Given the description of an element on the screen output the (x, y) to click on. 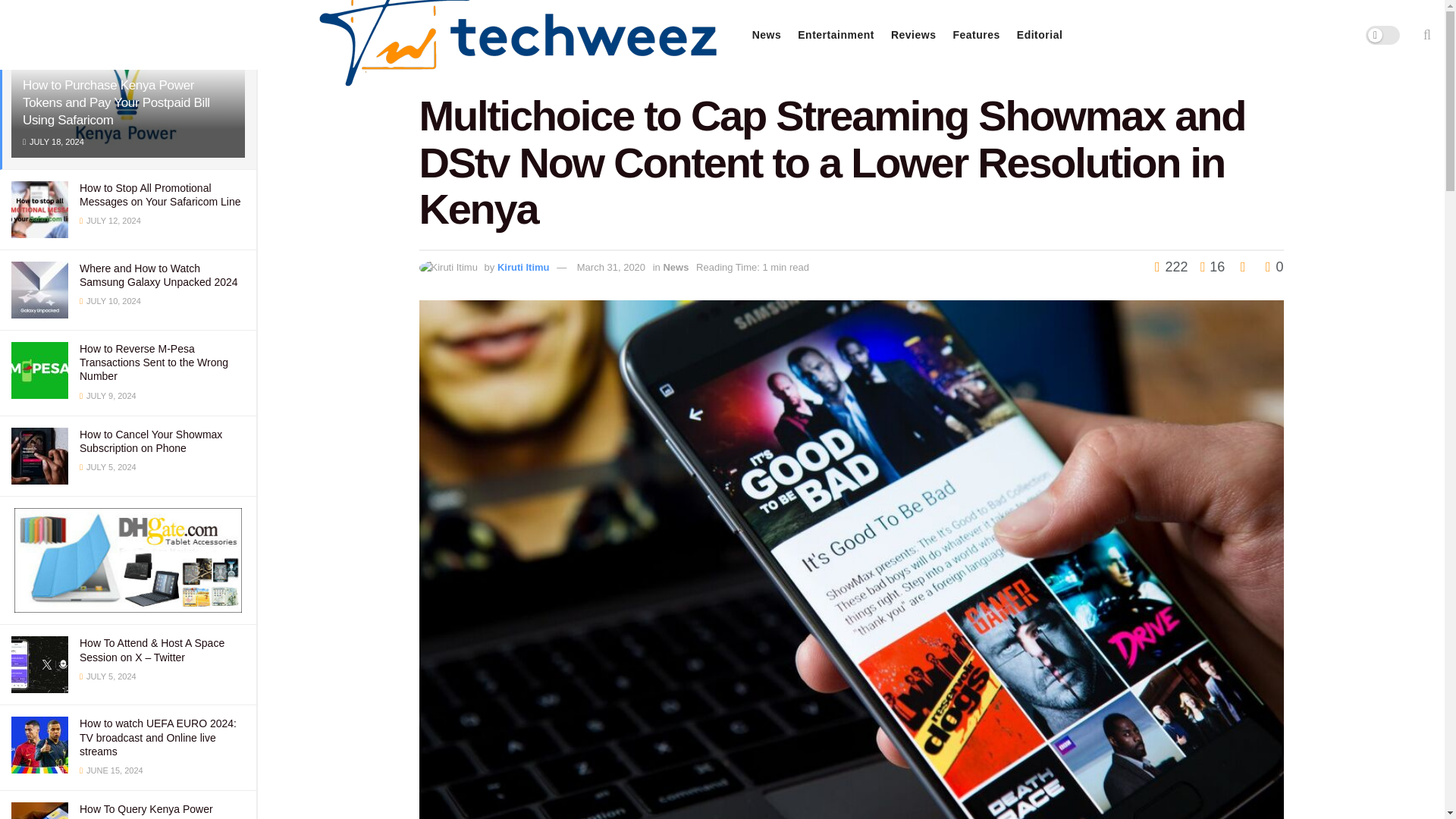
News (766, 34)
How to Reverse M-Pesa Transactions Sent to the Wrong Number (154, 362)
How to Cancel Your Showmax Subscription on Phone (151, 441)
Editorial (1039, 34)
Features (975, 34)
Entertainment (836, 34)
How to Stop All Promotional Messages on Your Safaricom Line (160, 194)
DHgate Tablet Cases deals (127, 559)
How To Query Kenya Power Prepaid Tokens When SMS Delays (162, 811)
Reviews (913, 34)
Where and How to Watch Samsung Galaxy Unpacked 2024 (159, 275)
